Given the description of an element on the screen output the (x, y) to click on. 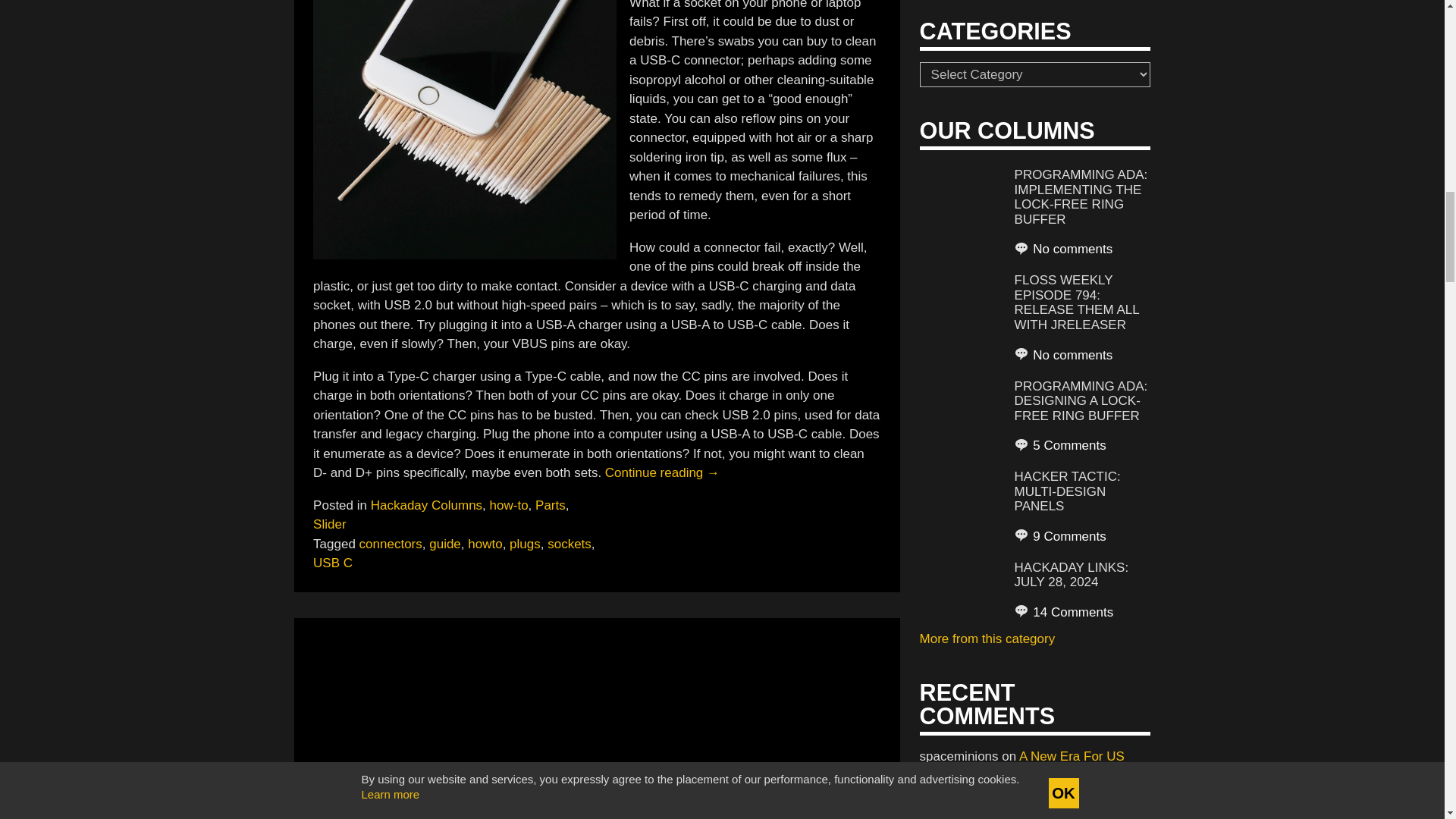
Hackaday Columns (426, 504)
